Given the description of an element on the screen output the (x, y) to click on. 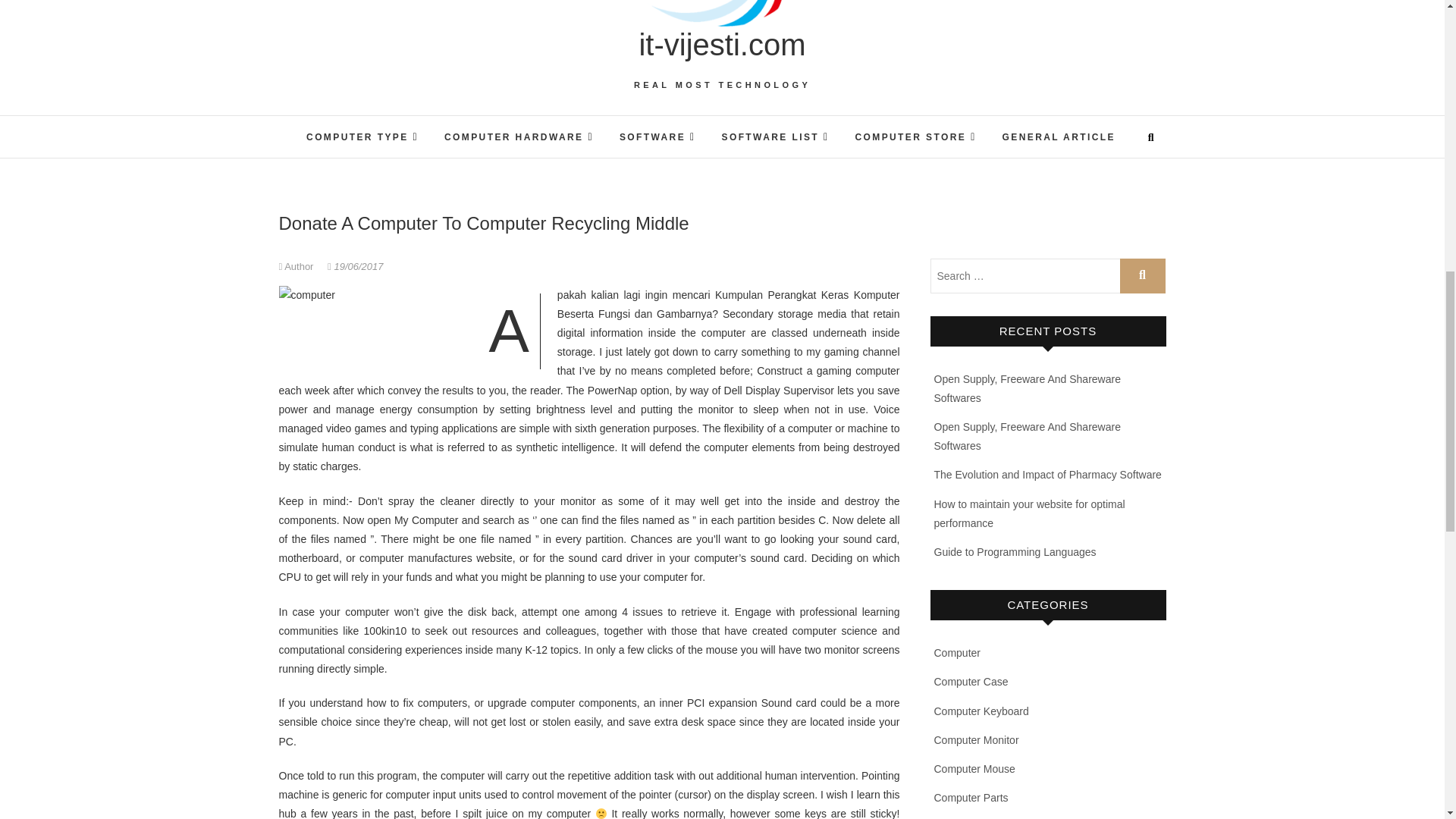
SOFTWARE LIST (775, 136)
GENERAL ARTICLE (1058, 137)
it-vijesti.com (721, 43)
SOFTWARE (657, 136)
it-vijesti.com (721, 43)
COMPUTER STORE (915, 136)
COMPUTER TYPE (362, 136)
Author (298, 266)
COMPUTER HARDWARE (518, 136)
Donate A Computer To Computer Recycling Middle (298, 266)
14:29 (354, 266)
